Given the description of an element on the screen output the (x, y) to click on. 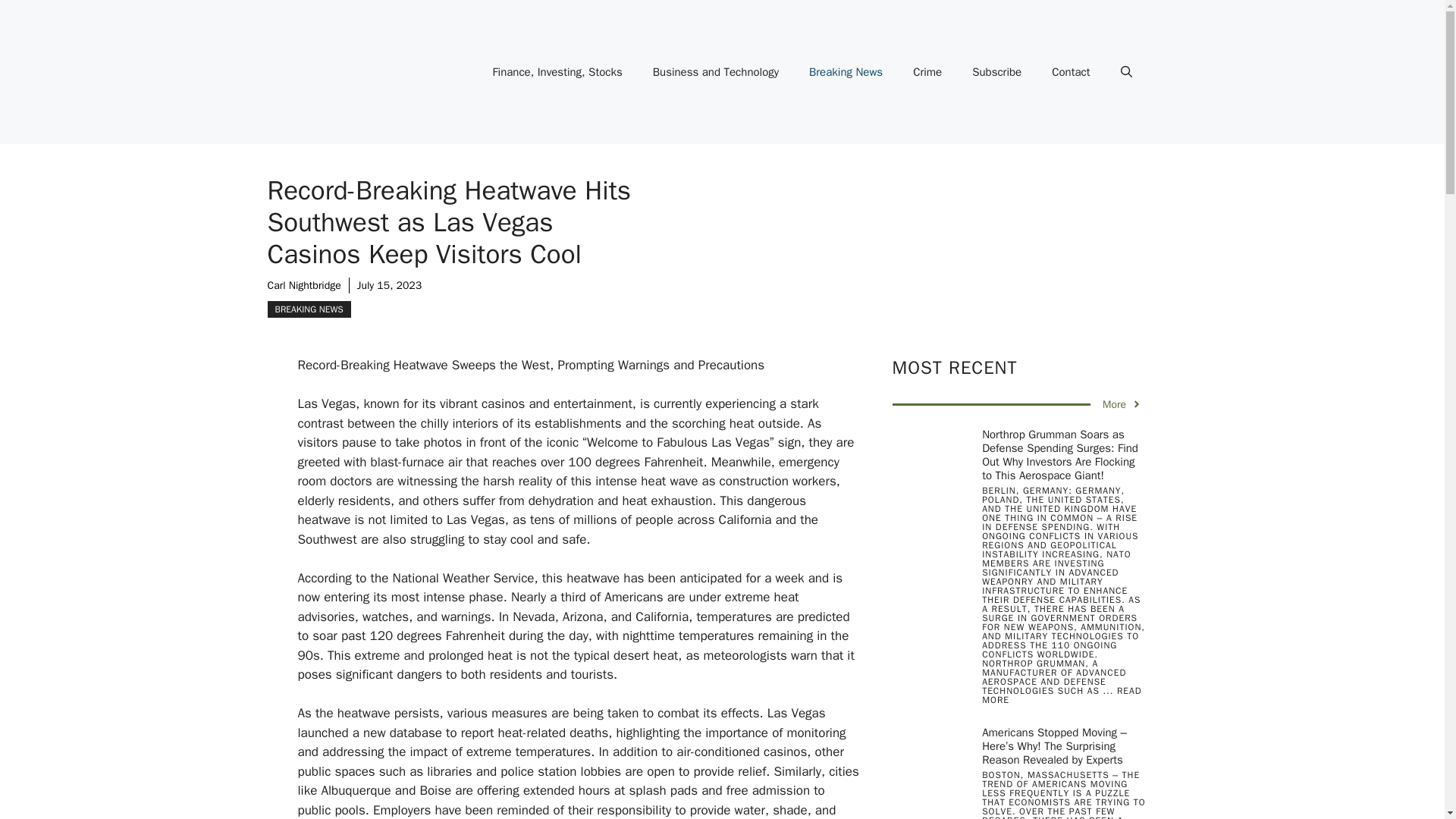
Crime (927, 72)
Business and Technology (715, 72)
BREAKING NEWS (308, 309)
Subscribe (996, 72)
Breaking News (845, 72)
Contact (1070, 72)
READ MORE (1061, 694)
Carl Nightbridge (303, 285)
